Given the description of an element on the screen output the (x, y) to click on. 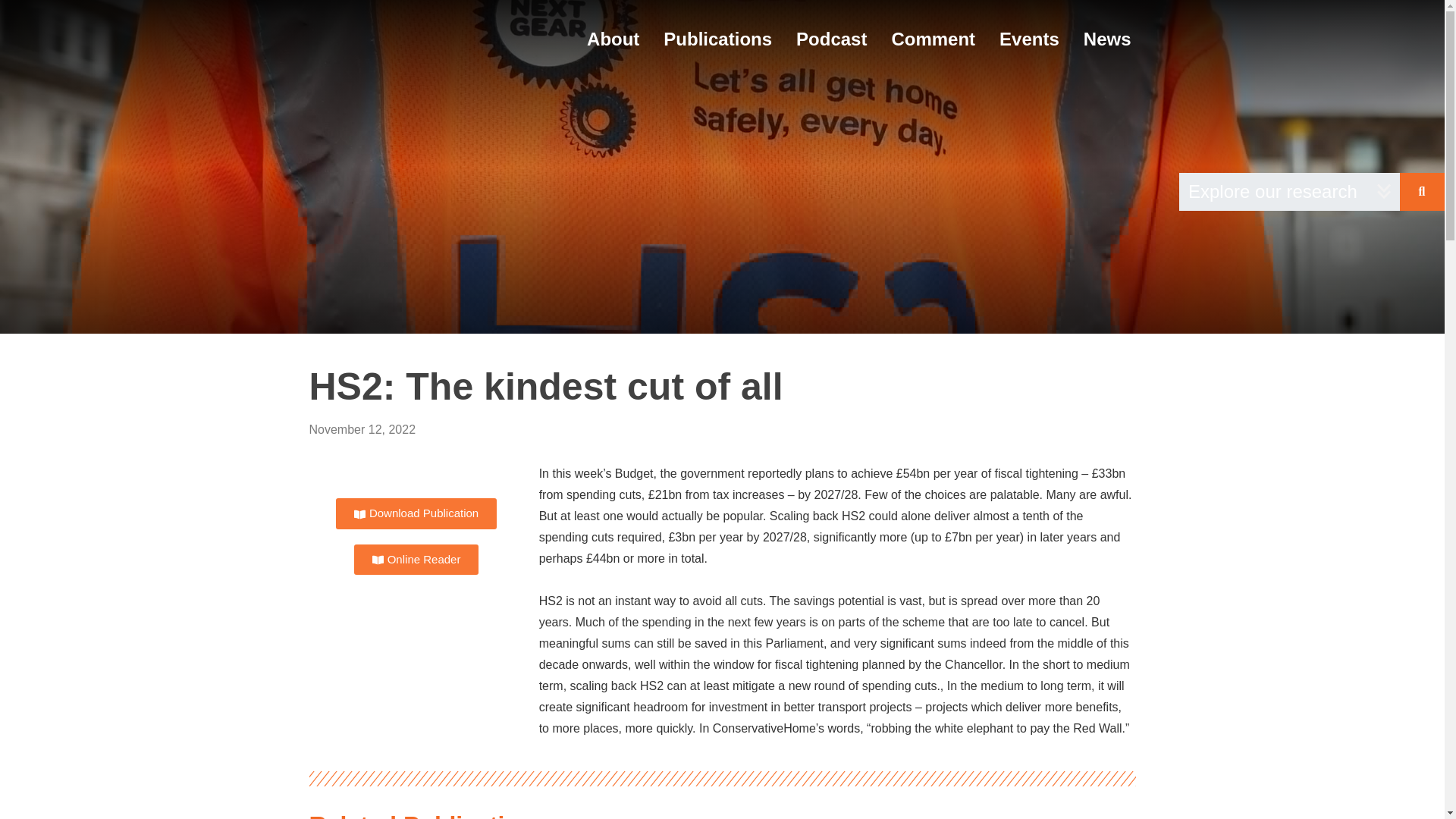
About (612, 38)
Podcast (831, 38)
Comment (933, 38)
Publications (717, 38)
Events (1028, 38)
News (1107, 38)
